Given the description of an element on the screen output the (x, y) to click on. 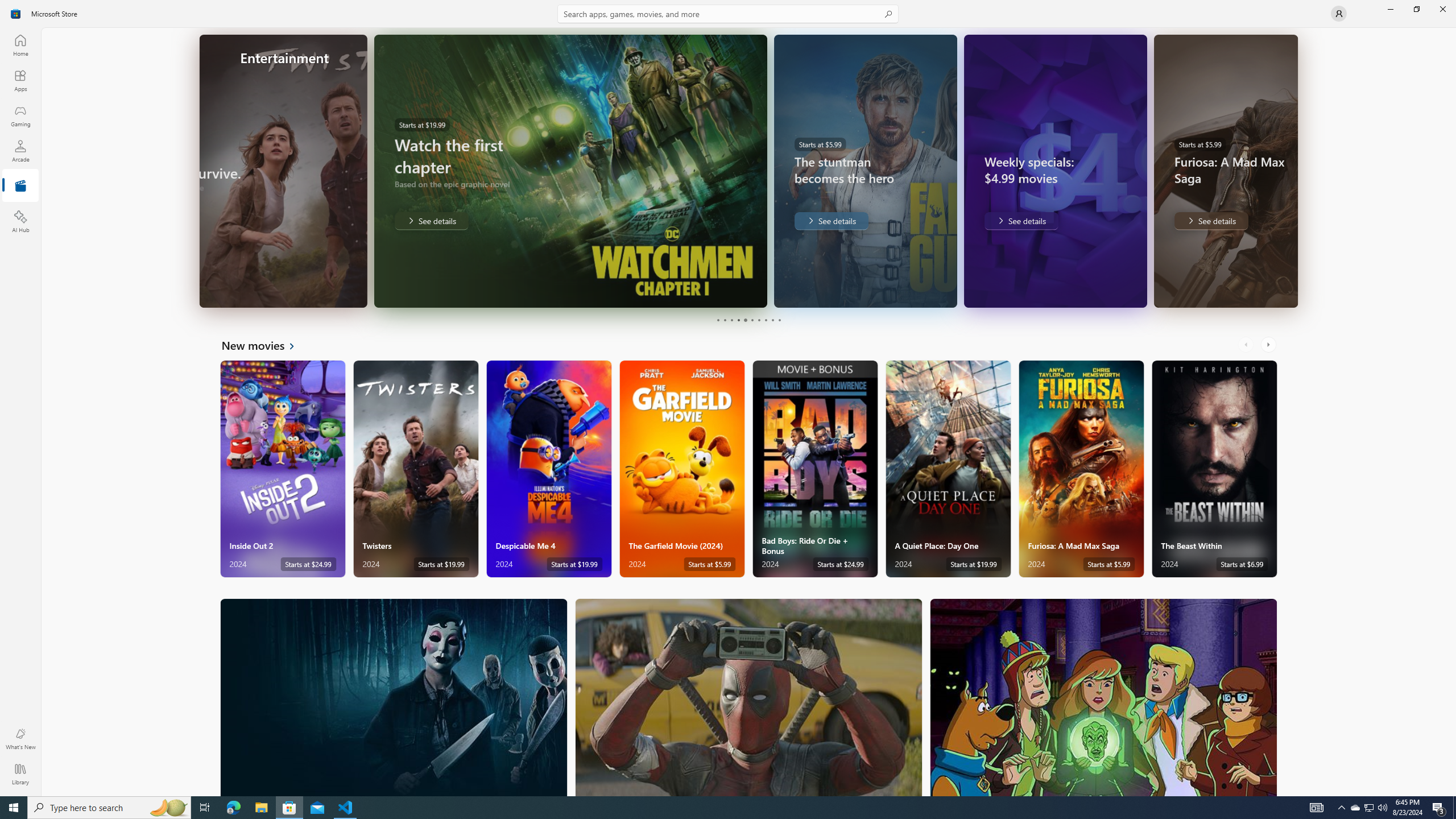
Page 9 (772, 319)
Page 6 (751, 319)
Page 4 (738, 319)
Close Microsoft Store (1442, 9)
Bad Boys: Ride Or Die + Bonus. Starts at $24.99   (814, 469)
Gaming (20, 115)
What's New (20, 738)
AutomationID: Image (1290, 170)
The Garfield Movie (2024). Starts at $5.99   (681, 469)
Page 8 (764, 319)
Page 10 (779, 319)
